Given the description of an element on the screen output the (x, y) to click on. 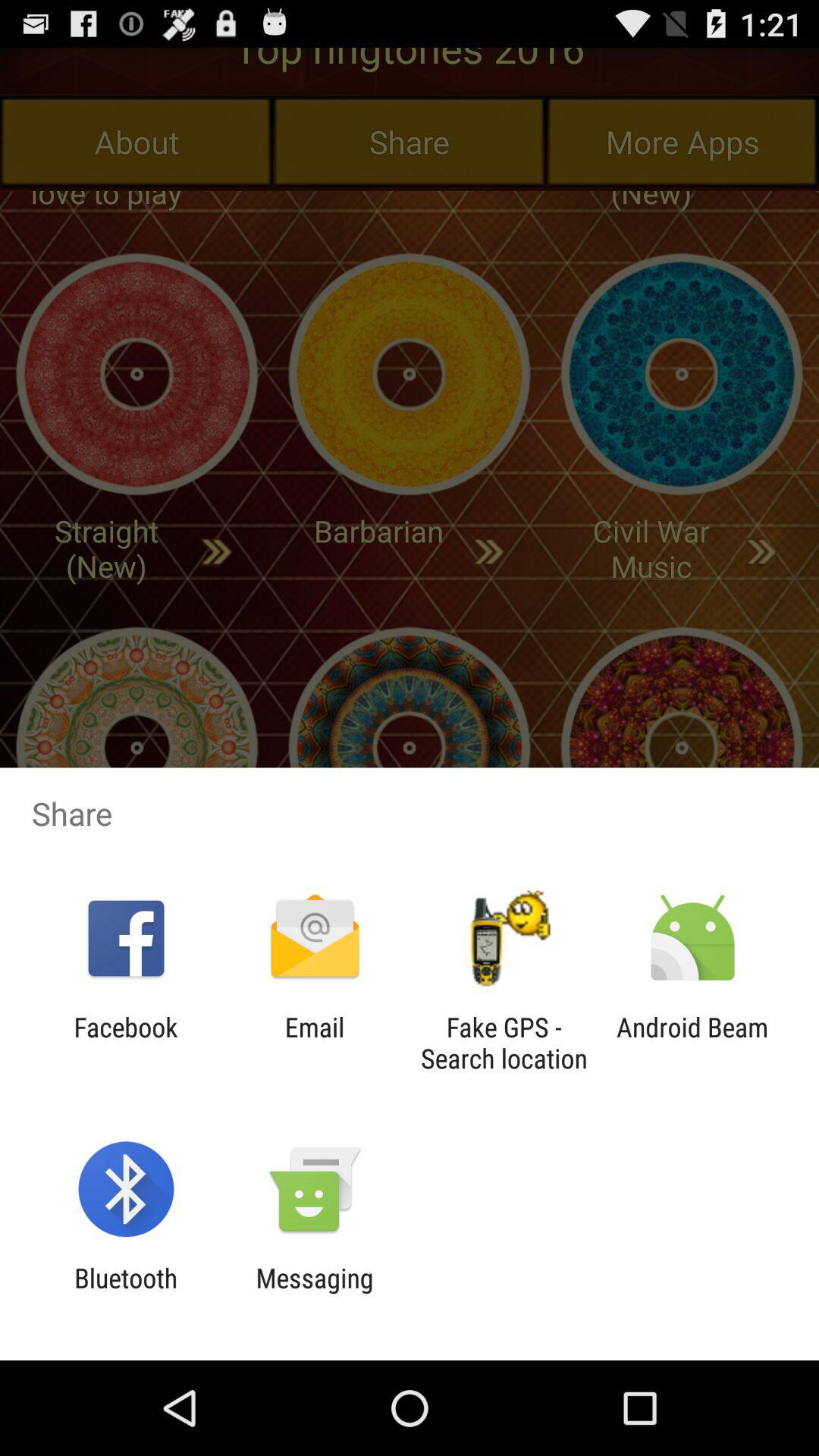
tap item next to the email app (503, 1042)
